Given the description of an element on the screen output the (x, y) to click on. 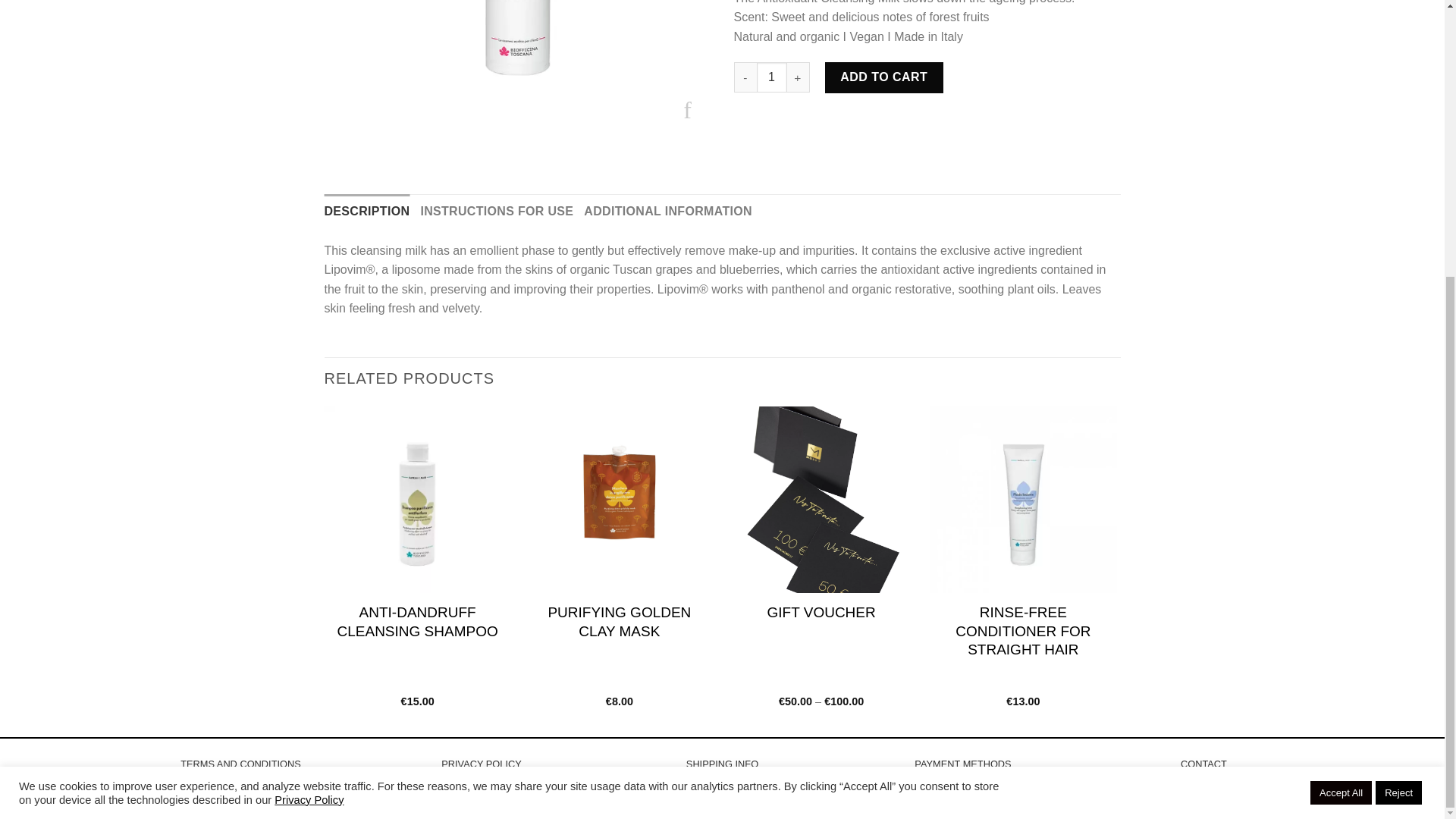
1 (772, 77)
antioxidant-cleansing-milk (517, 66)
